Given the description of an element on the screen output the (x, y) to click on. 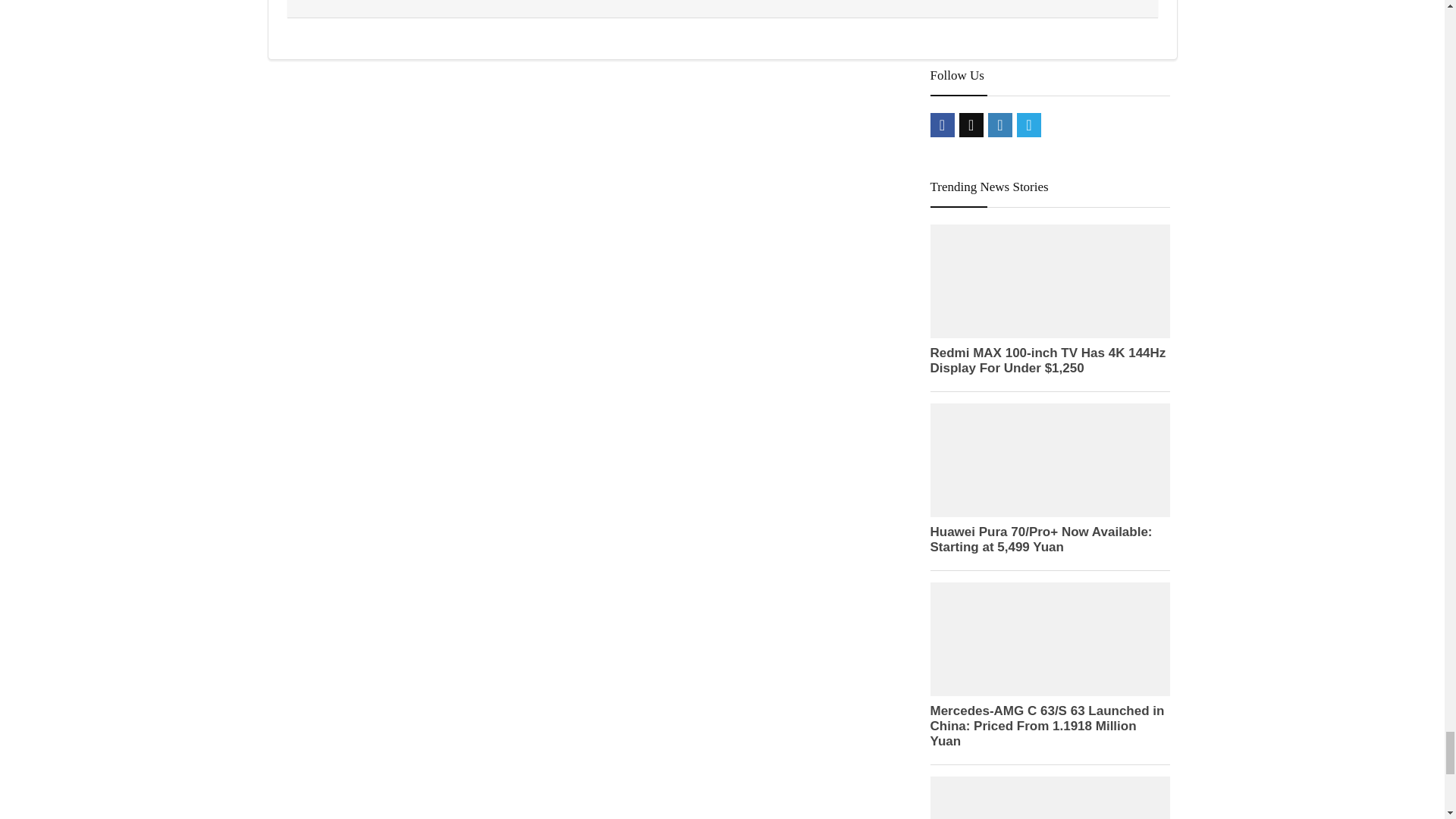
Telegram (1028, 125)
Instagramm (999, 125)
twitter (971, 125)
Facebook (941, 125)
